Given the description of an element on the screen output the (x, y) to click on. 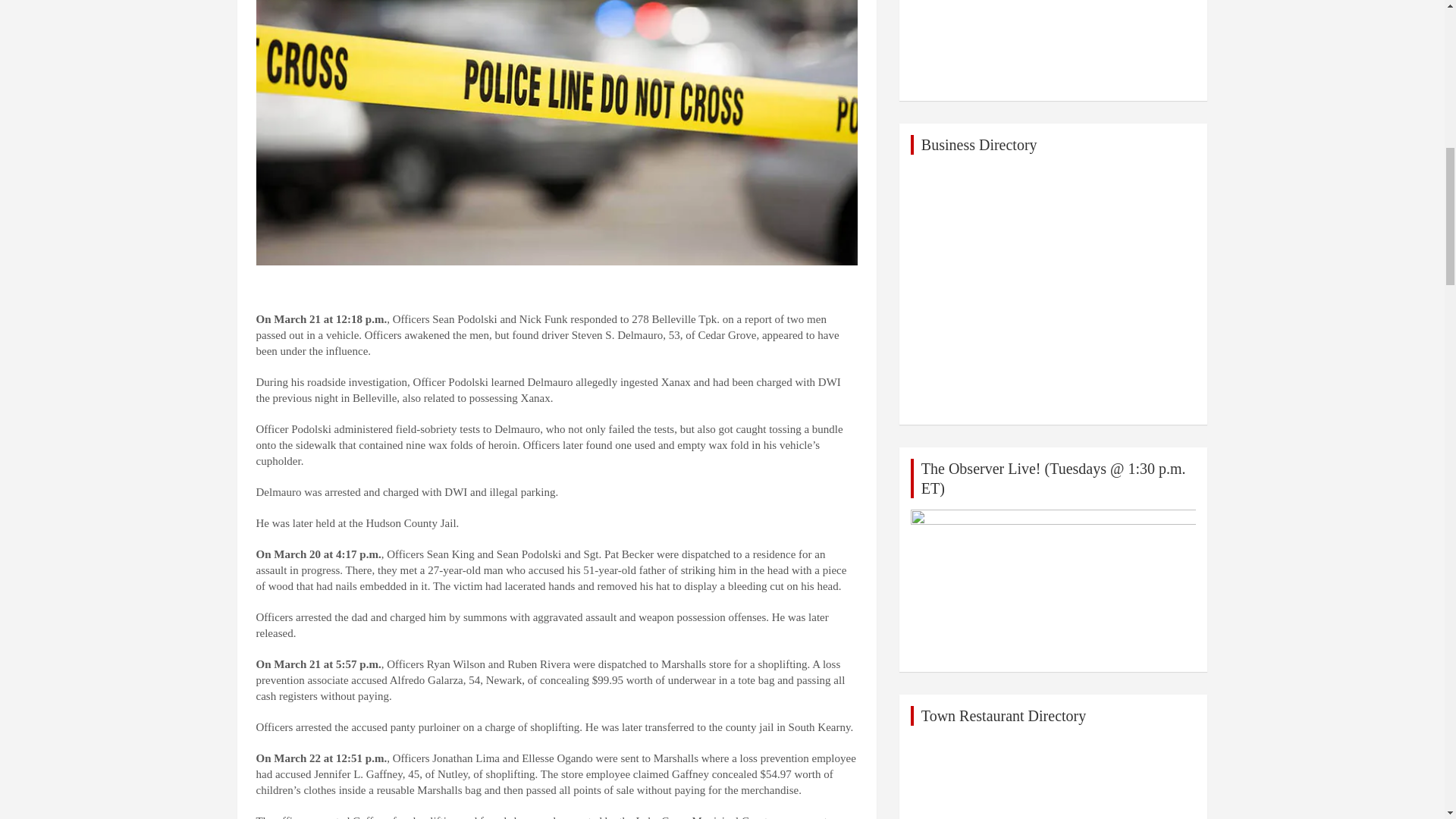
The Observer Live! (1053, 584)
